Given the description of an element on the screen output the (x, y) to click on. 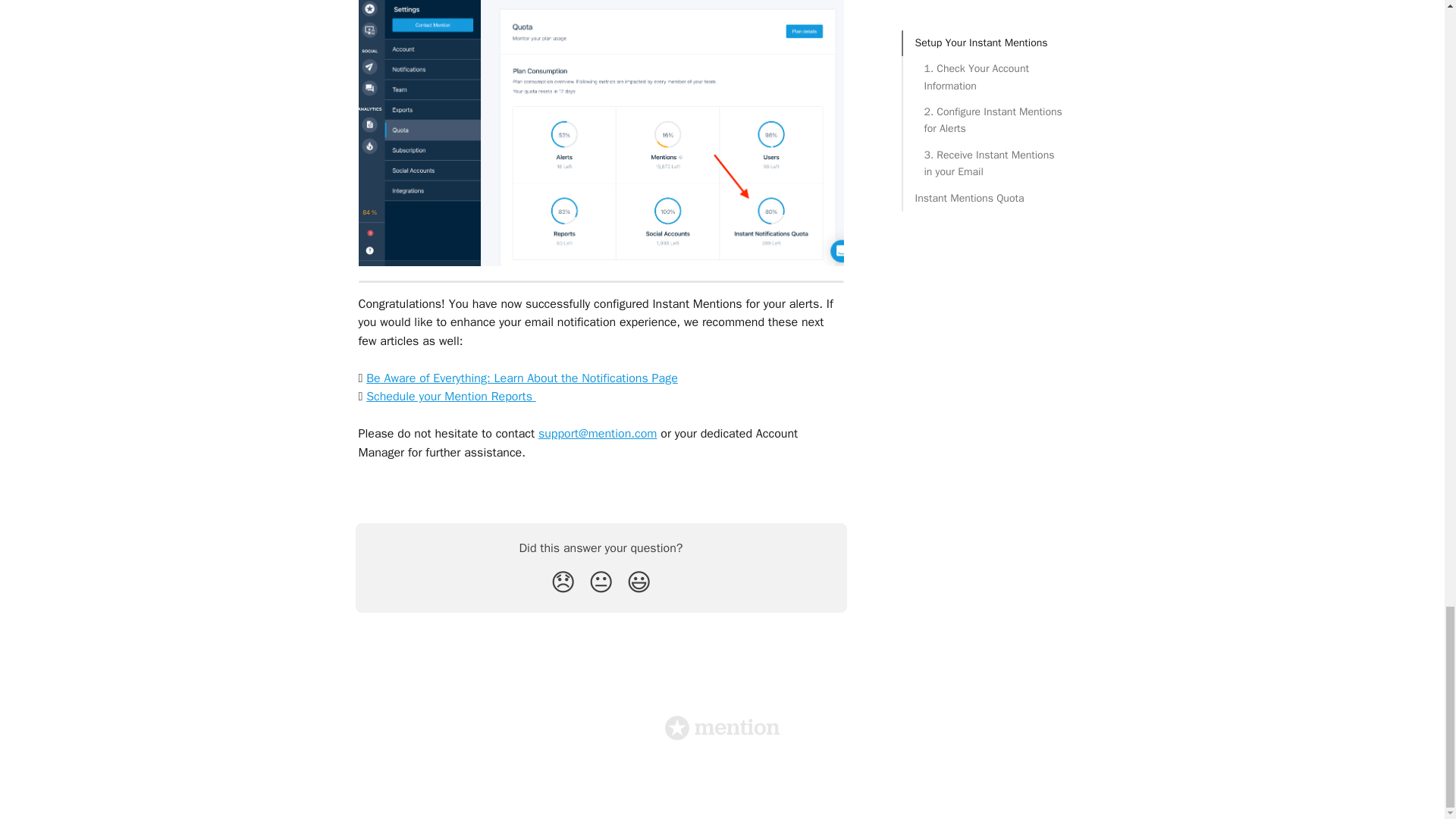
Be Aware of Everything: Learn About the Notifications Page (522, 378)
Schedule your Mention Reports (450, 396)
